Given the description of an element on the screen output the (x, y) to click on. 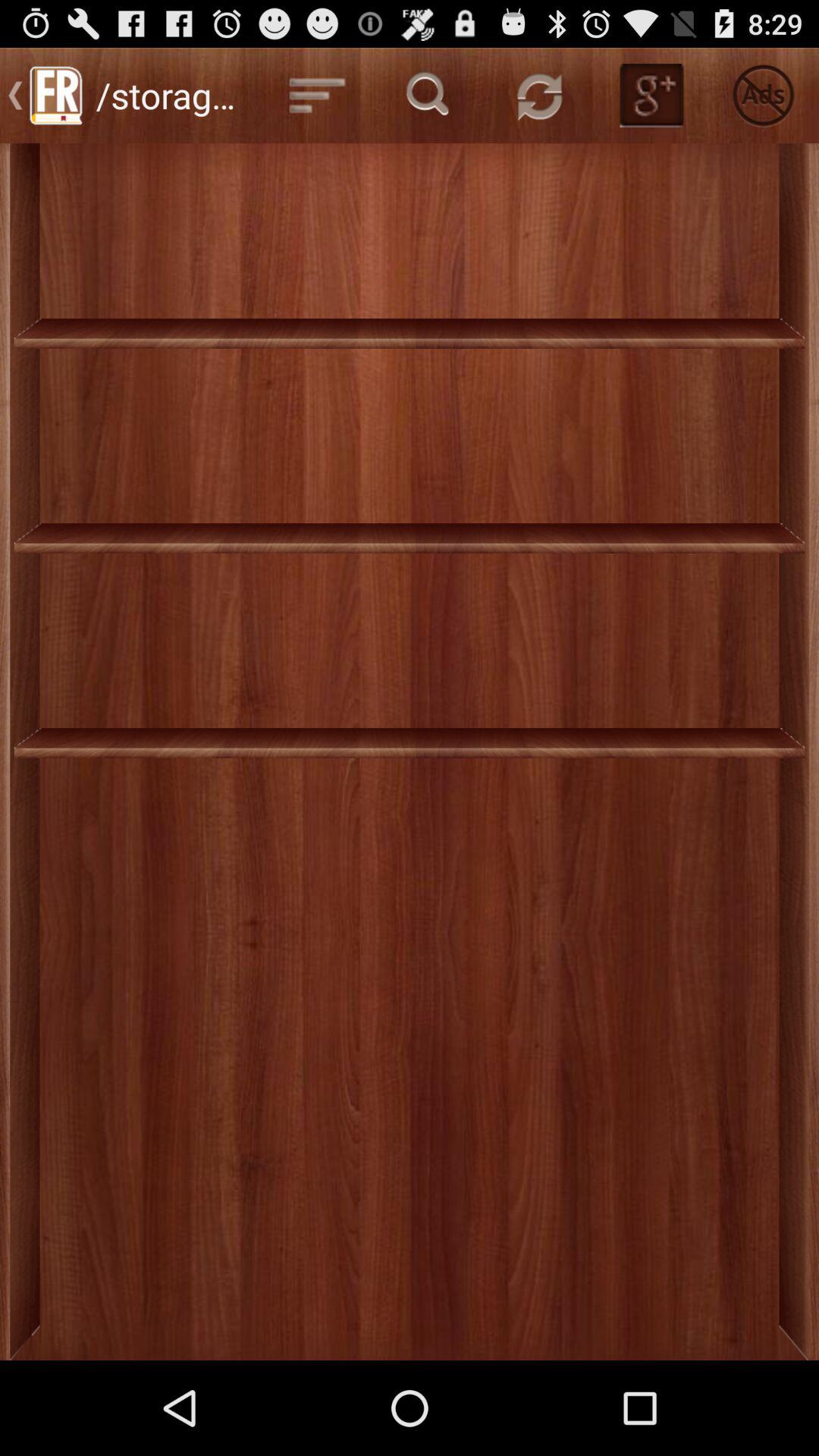
press app to the right of the storage emulated 0 item (317, 95)
